Given the description of an element on the screen output the (x, y) to click on. 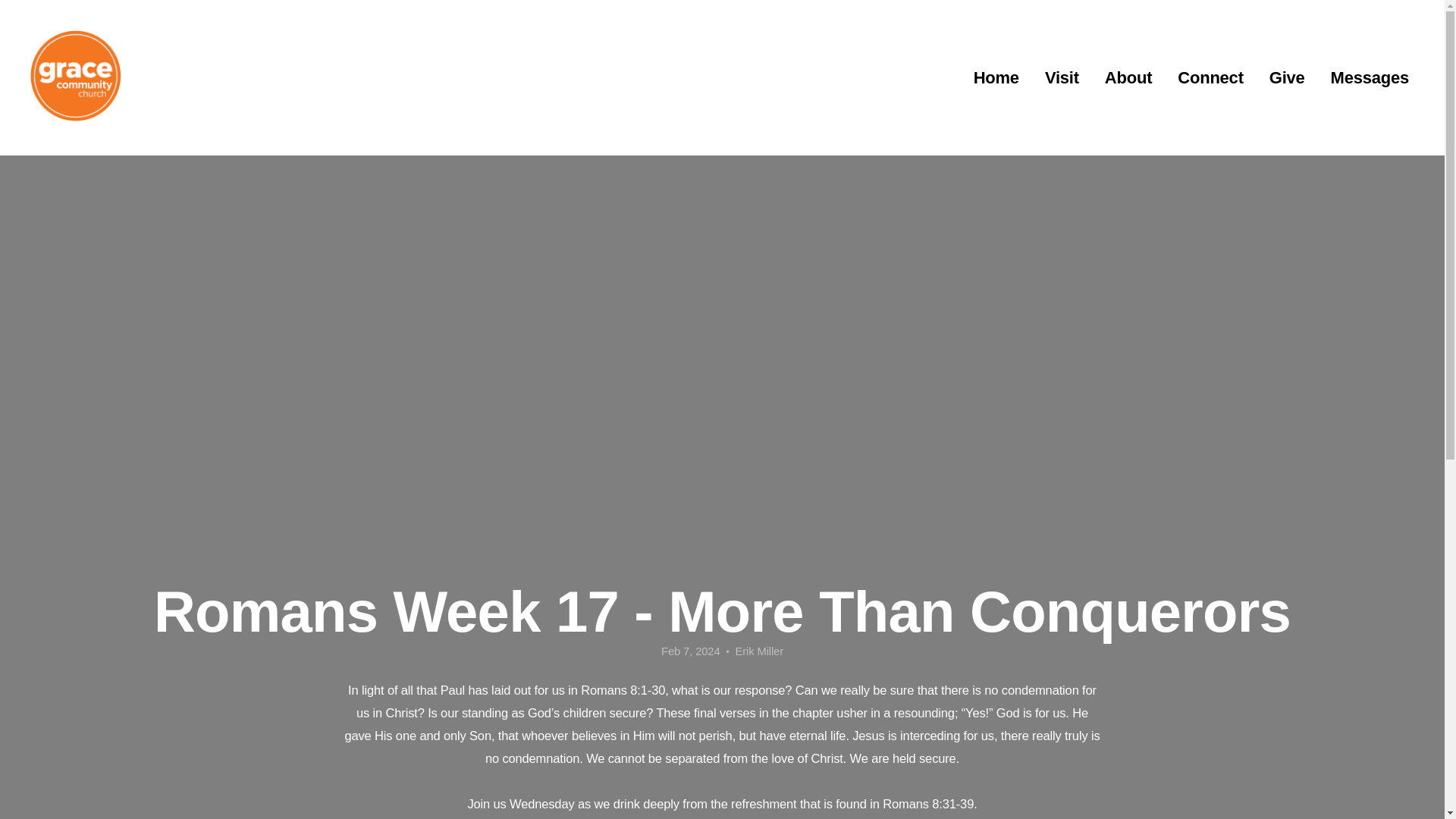
Messages (1370, 78)
Visit (1061, 78)
Home (996, 78)
Connect (1209, 78)
Give (1286, 78)
About (1128, 78)
